Given the description of an element on the screen output the (x, y) to click on. 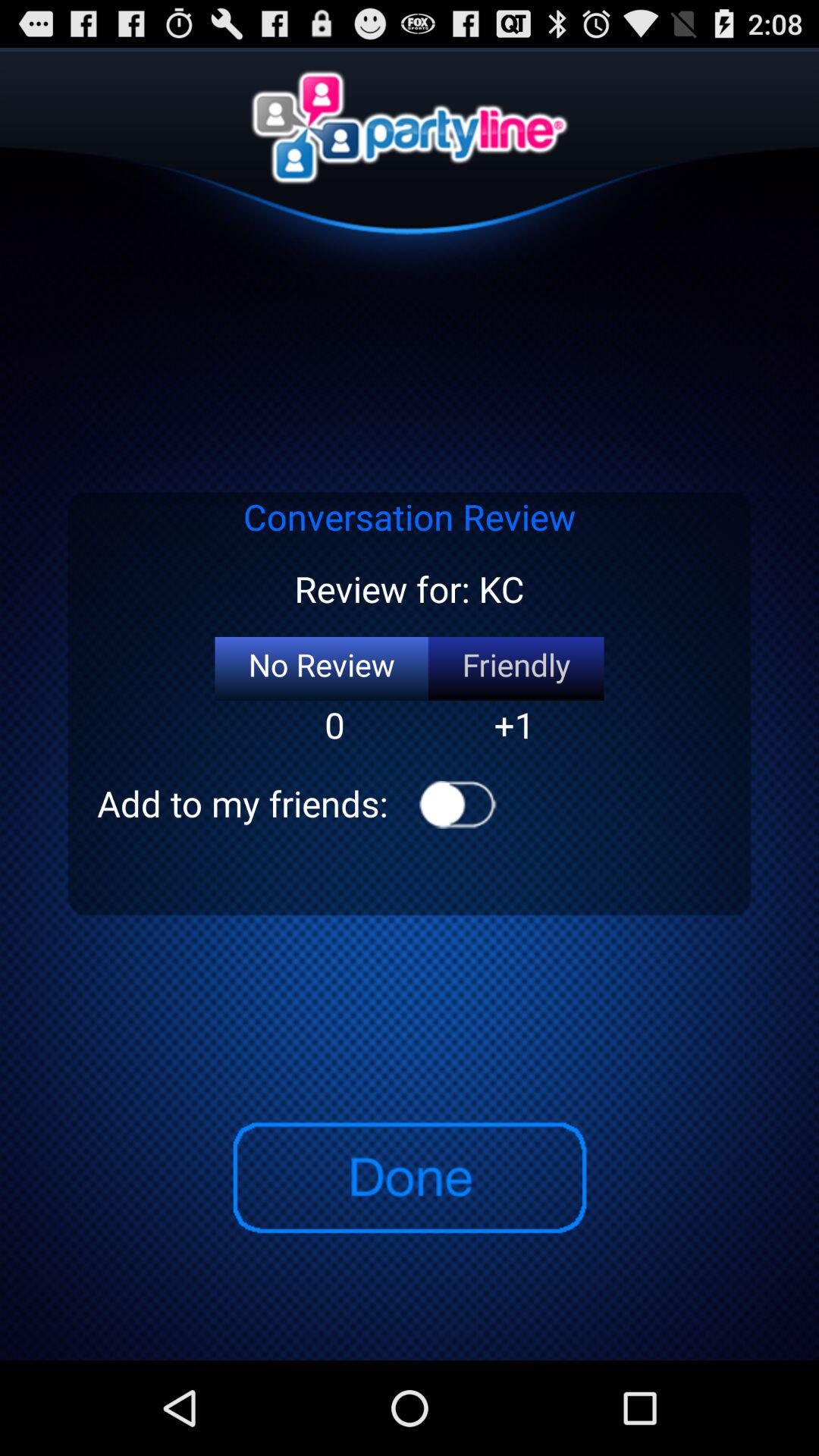
press icon next to the add to my item (457, 804)
